Given the description of an element on the screen output the (x, y) to click on. 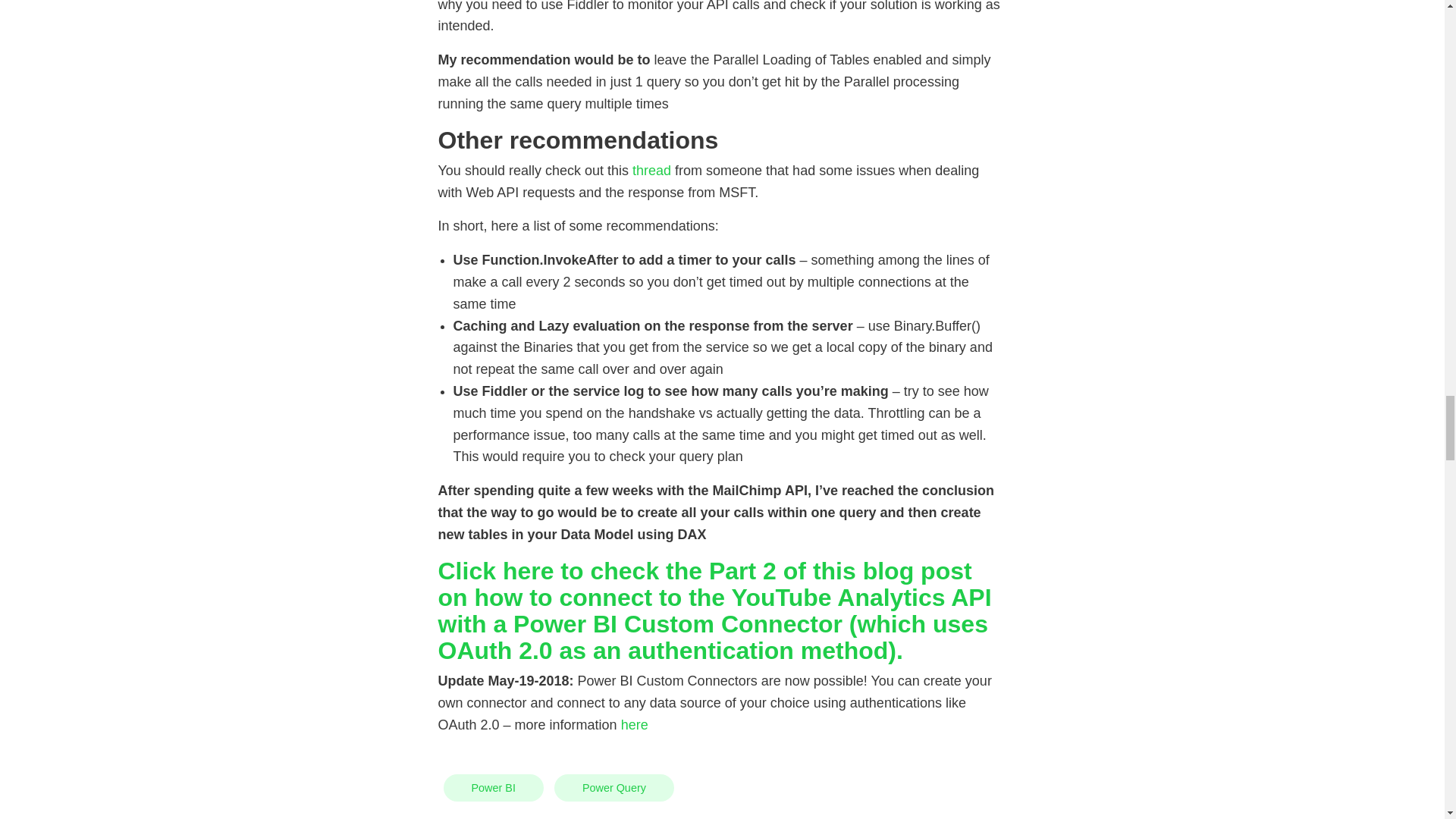
Power Query (614, 787)
Power BI (492, 787)
thread (651, 170)
here (634, 724)
